Given the description of an element on the screen output the (x, y) to click on. 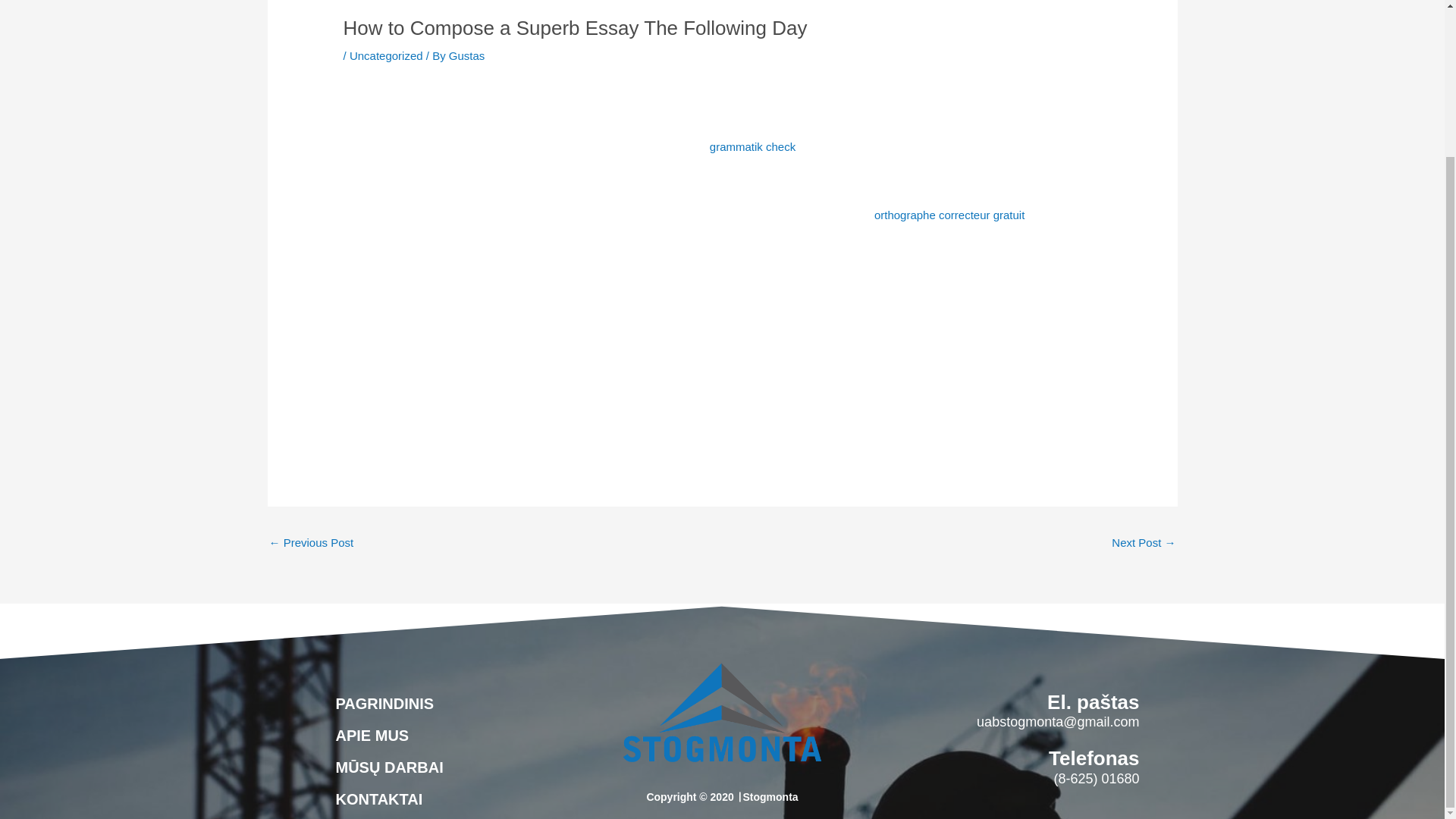
Why You Need to Use a Reliable Resources (310, 543)
grammatik check (752, 146)
APIE MUS (371, 735)
Uncategorized (386, 55)
View all posts by Gustas (466, 55)
orthographe correcteur gratuit (950, 214)
PAGRINDINIS (384, 703)
Gustas (466, 55)
